Given the description of an element on the screen output the (x, y) to click on. 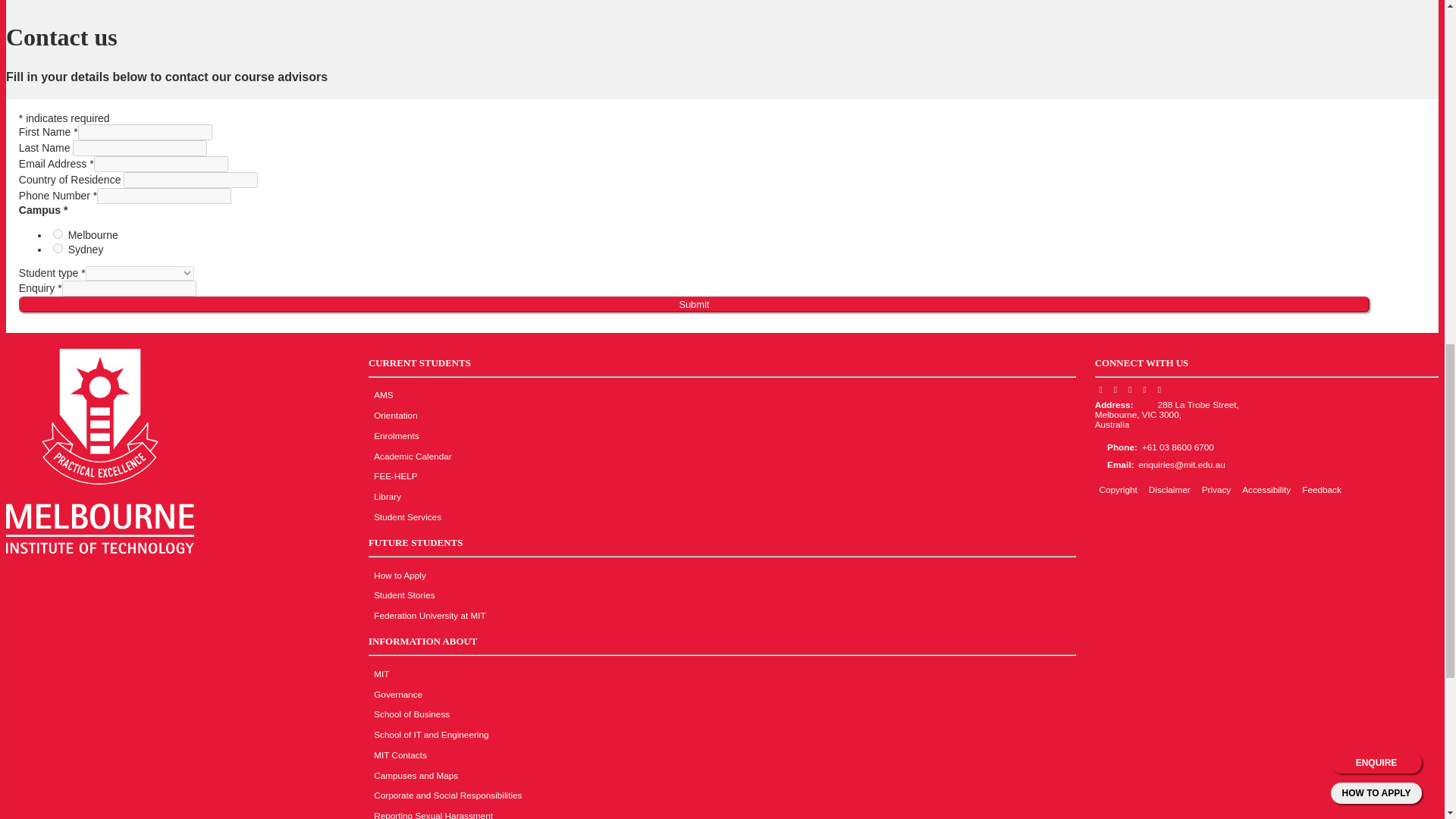
Melbourne (57, 234)
Sydney (57, 248)
Submit (694, 304)
